Given the description of an element on the screen output the (x, y) to click on. 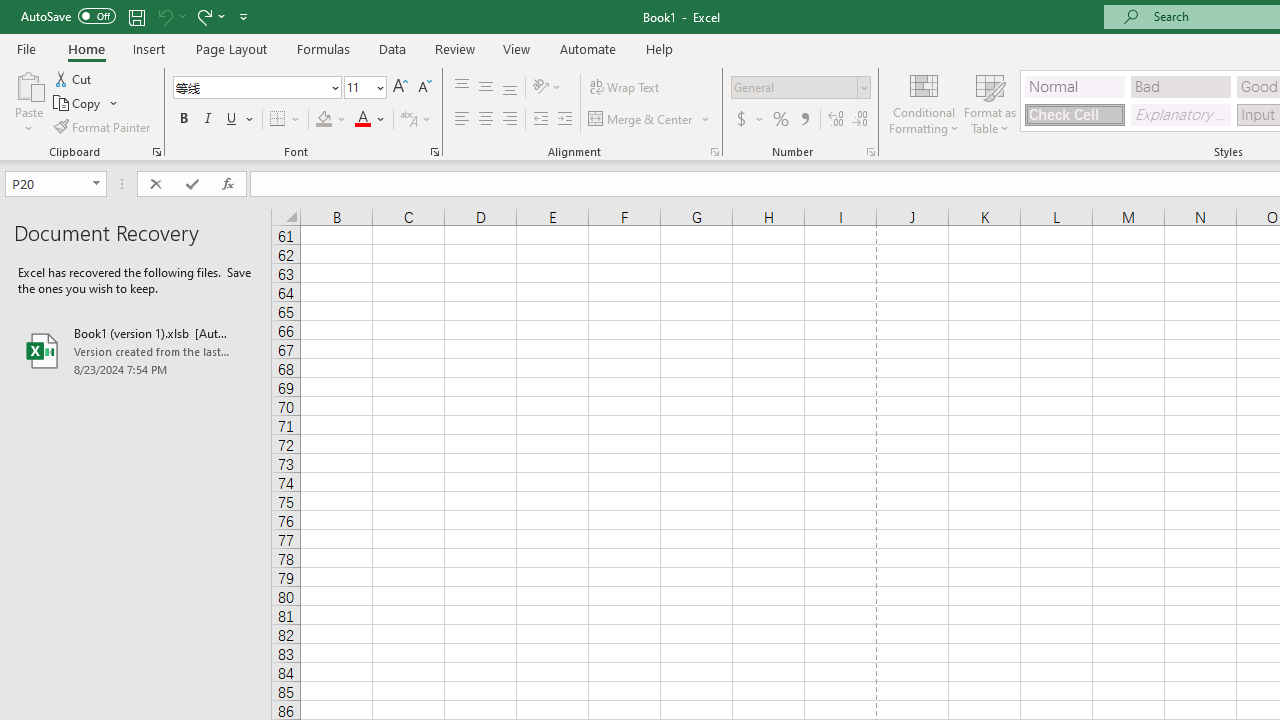
Font Color RGB(255, 0, 0) (362, 119)
Top Align (461, 87)
Cut (73, 78)
Italic (207, 119)
Bold (183, 119)
Format Cell Number (870, 151)
Wrap Text (624, 87)
Copy (85, 103)
Middle Align (485, 87)
Increase Decimal (836, 119)
